Given the description of an element on the screen output the (x, y) to click on. 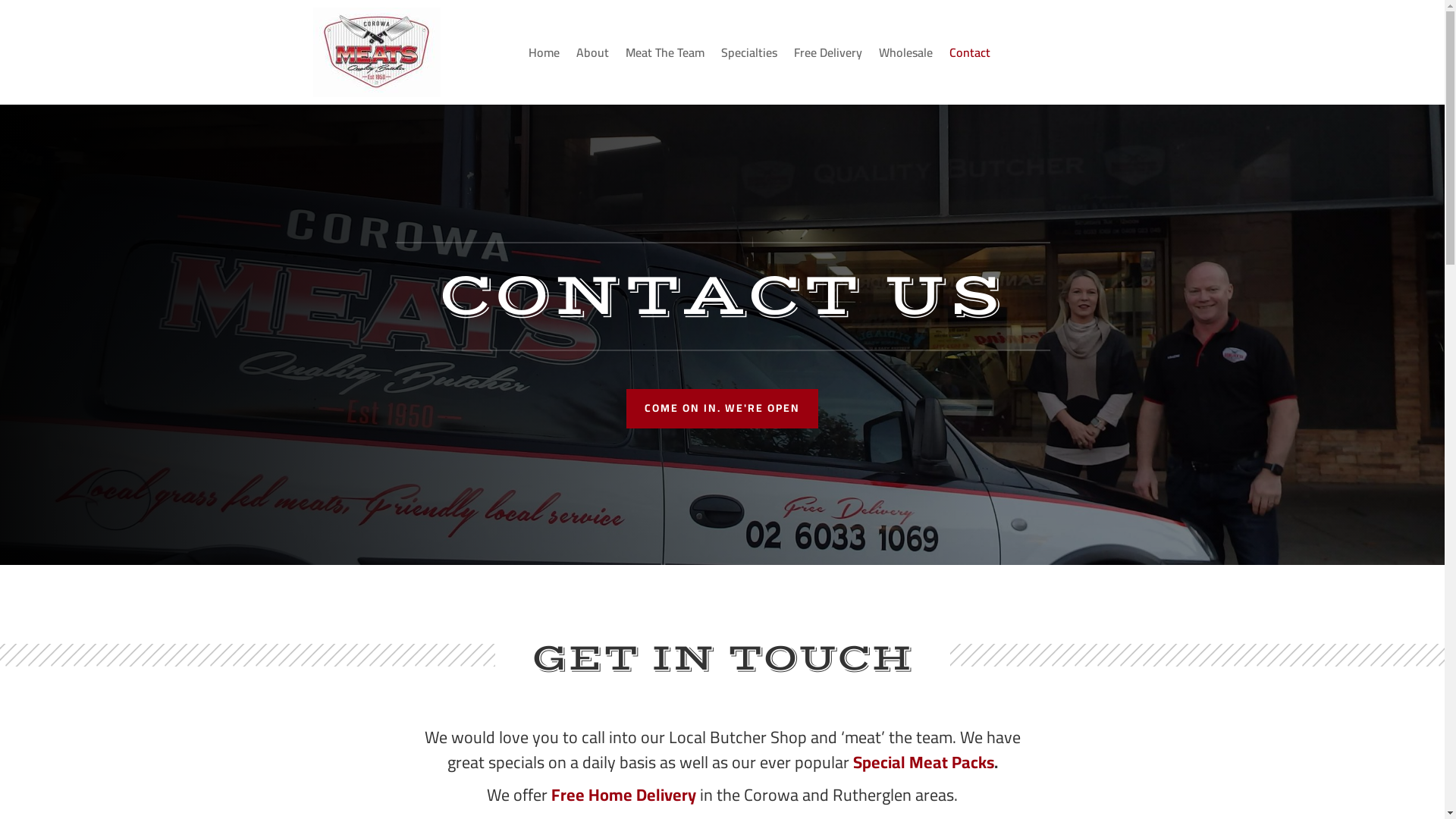
Meat The Team Element type: text (664, 55)
About Element type: text (592, 55)
Specialties Element type: text (749, 55)
Wholesale Element type: text (905, 55)
Corowa Meats Element type: hover (375, 52)
Special Meat Packs Element type: text (922, 762)
Free Delivery Element type: text (827, 55)
Contact Element type: text (969, 55)
COME ON IN. WE'RE OPEN Element type: text (722, 408)
Home Element type: text (543, 55)
Free Home Delivery Element type: text (623, 794)
